Given the description of an element on the screen output the (x, y) to click on. 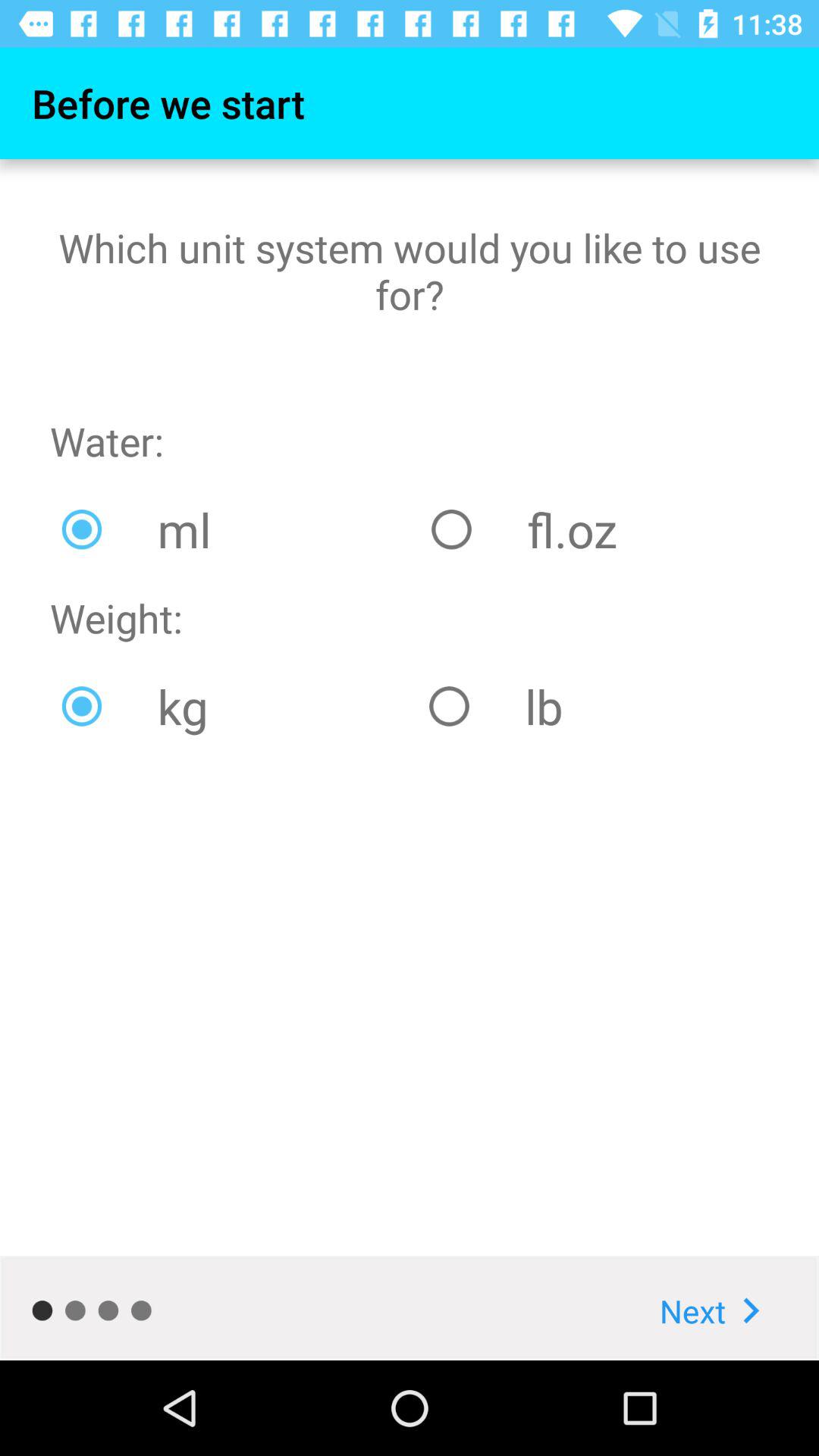
jump to ml item (234, 529)
